Given the description of an element on the screen output the (x, y) to click on. 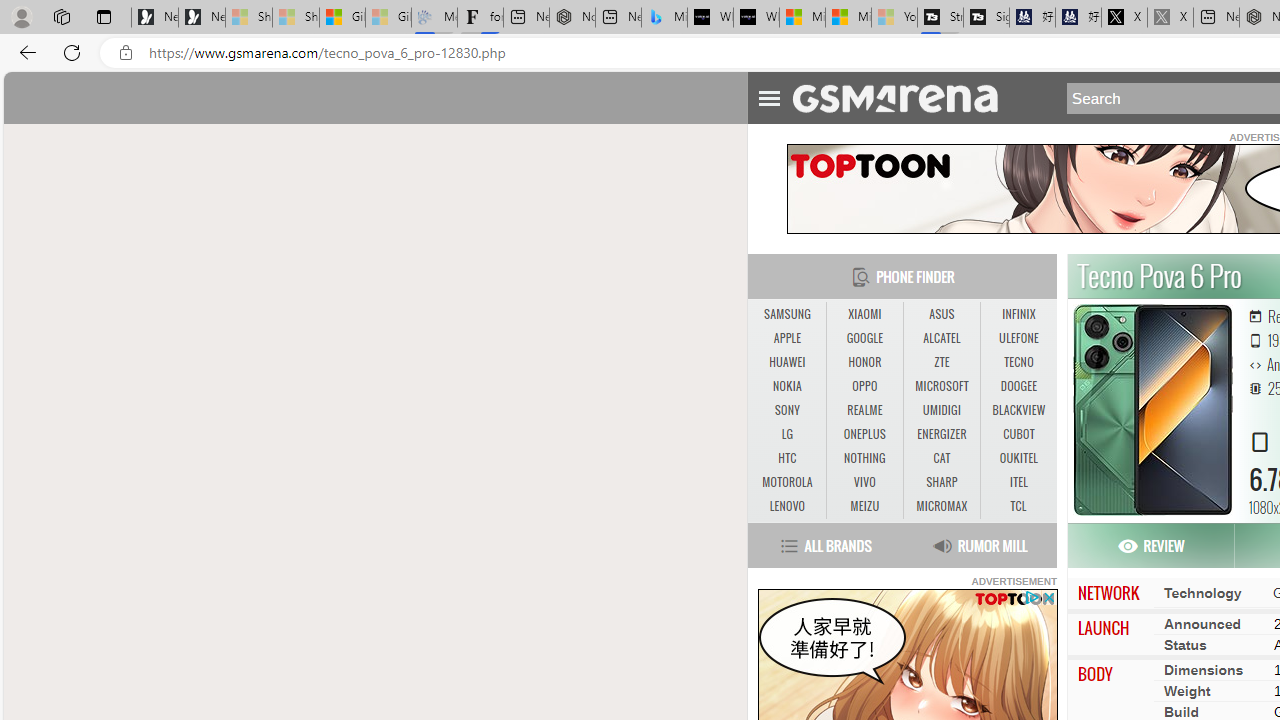
ASUS (941, 313)
NOTHING (863, 457)
AutomationID: close_button_svg (1048, 596)
ENERGIZER (941, 434)
Announced (1202, 623)
MICROSOFT (941, 385)
XIAOMI (864, 314)
